Given the description of an element on the screen output the (x, y) to click on. 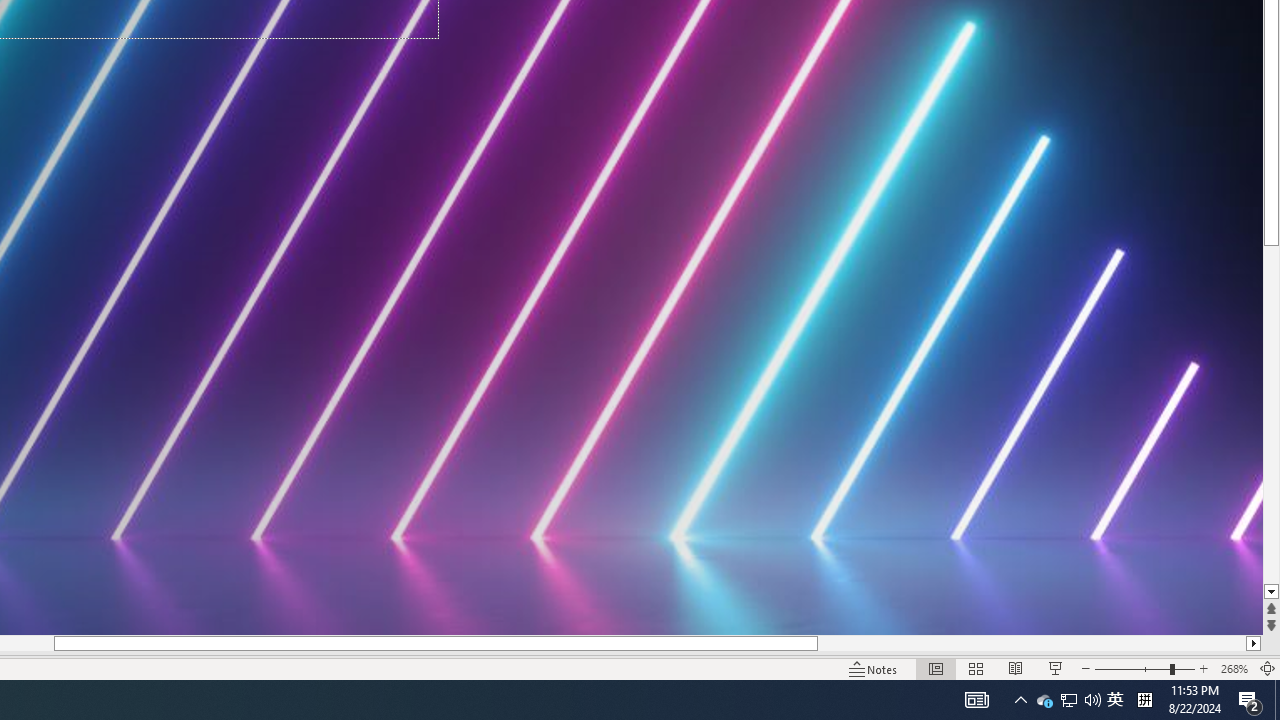
Normal (936, 668)
Reading View (1015, 668)
Slide Sorter (975, 668)
Notes  (874, 668)
Zoom (1144, 668)
Zoom to Fit  (1267, 668)
Zoom Out (1131, 668)
Zoom 268% (1234, 668)
Zoom In (1204, 668)
